Given the description of an element on the screen output the (x, y) to click on. 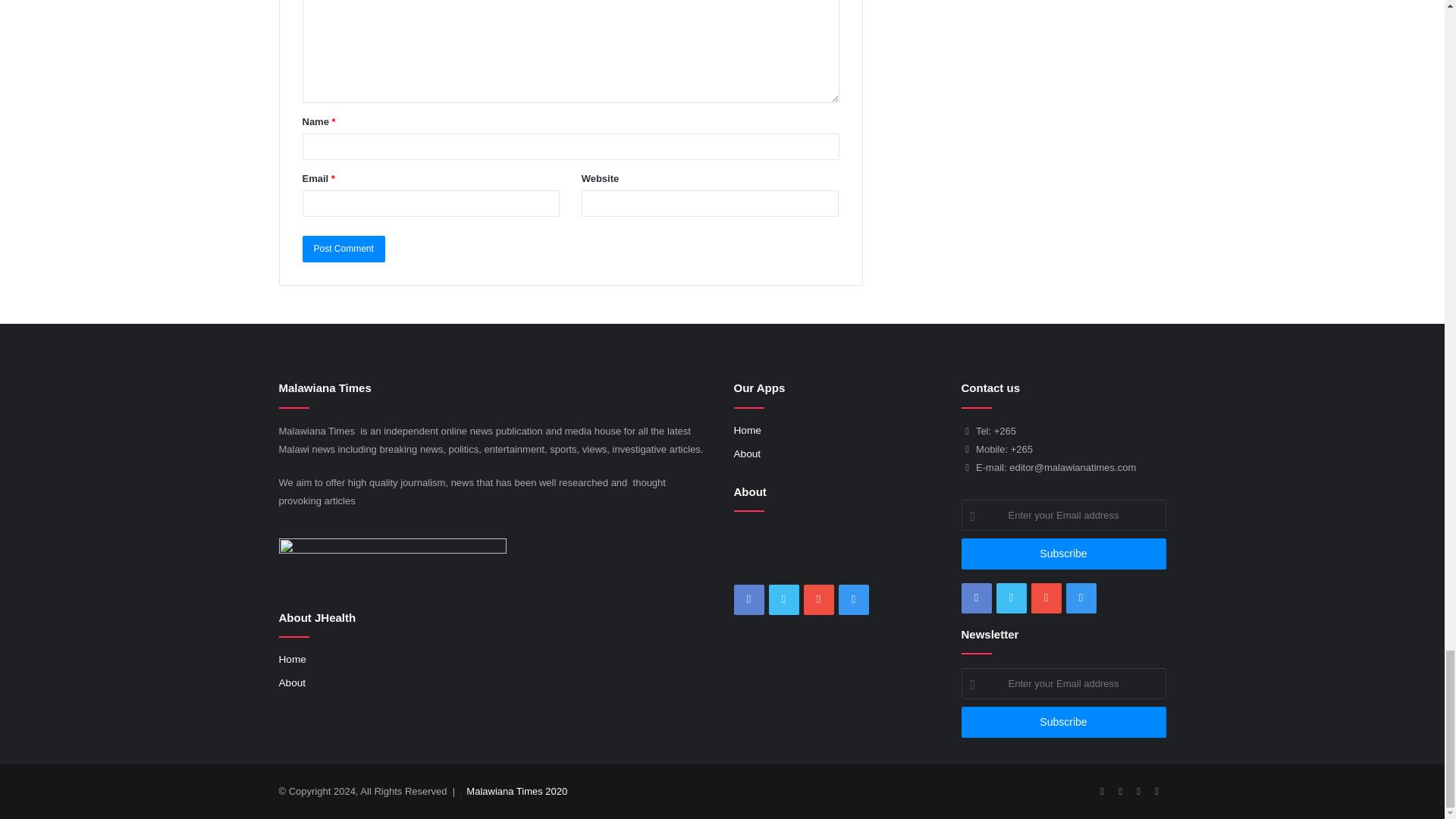
Subscribe (1063, 553)
Post Comment (342, 248)
Subscribe (1063, 721)
